Given the description of an element on the screen output the (x, y) to click on. 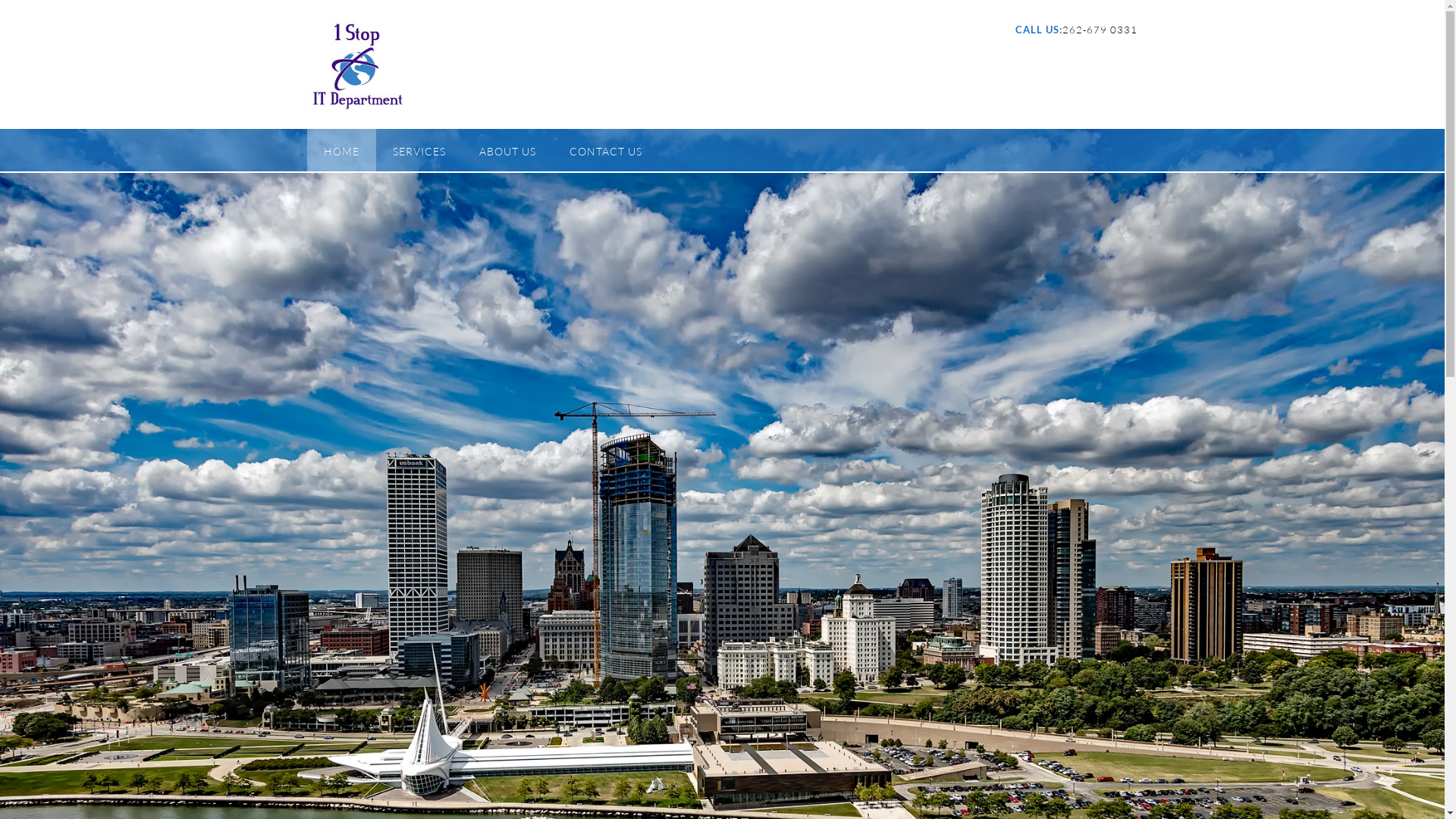
HOME Element type: text (340, 149)
SERVICES Element type: text (419, 149)
CONTACT US Element type: text (605, 149)
ABOUT US Element type: text (507, 149)
